Given the description of an element on the screen output the (x, y) to click on. 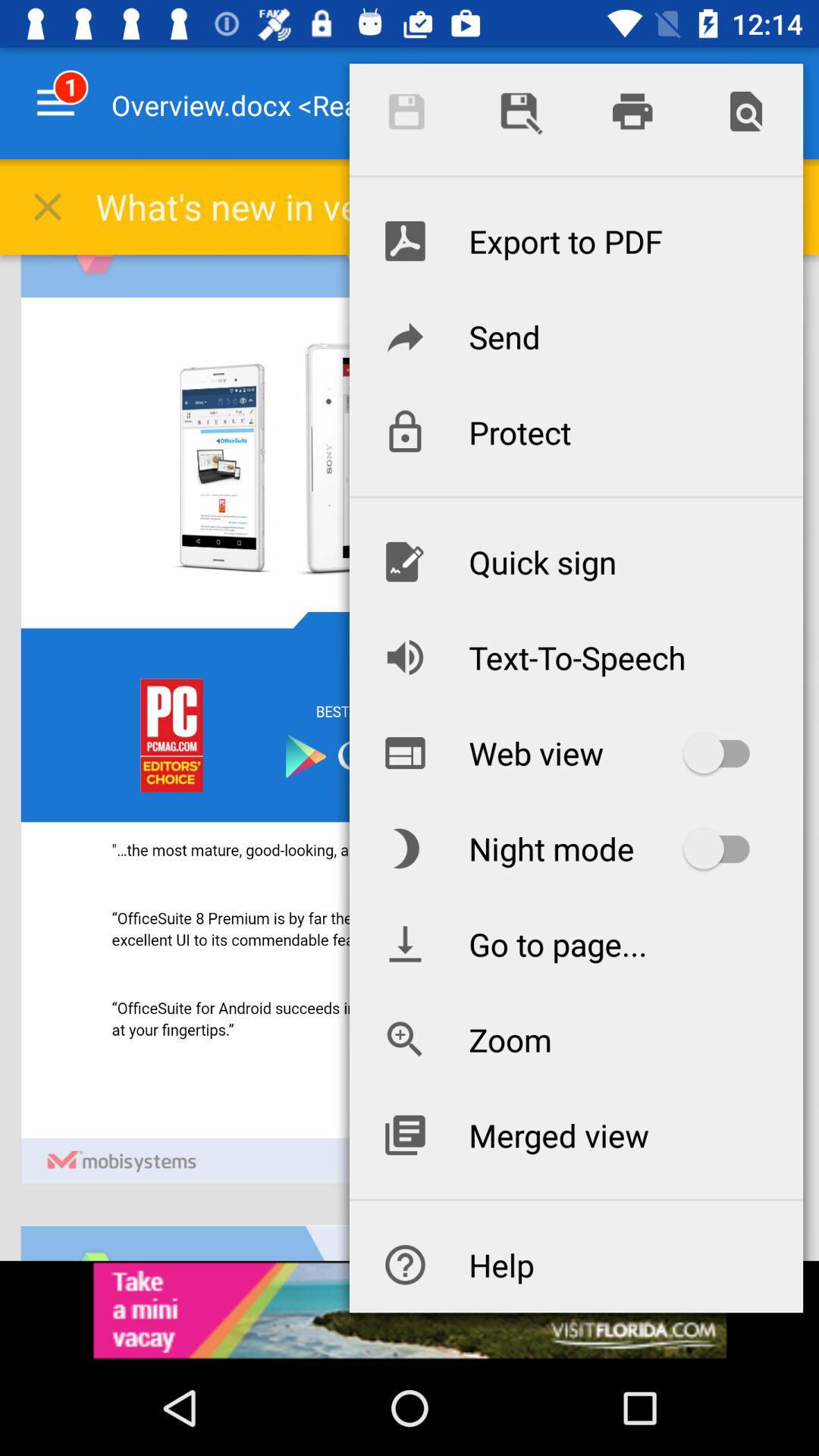
flip until night mode (576, 848)
